Given the description of an element on the screen output the (x, y) to click on. 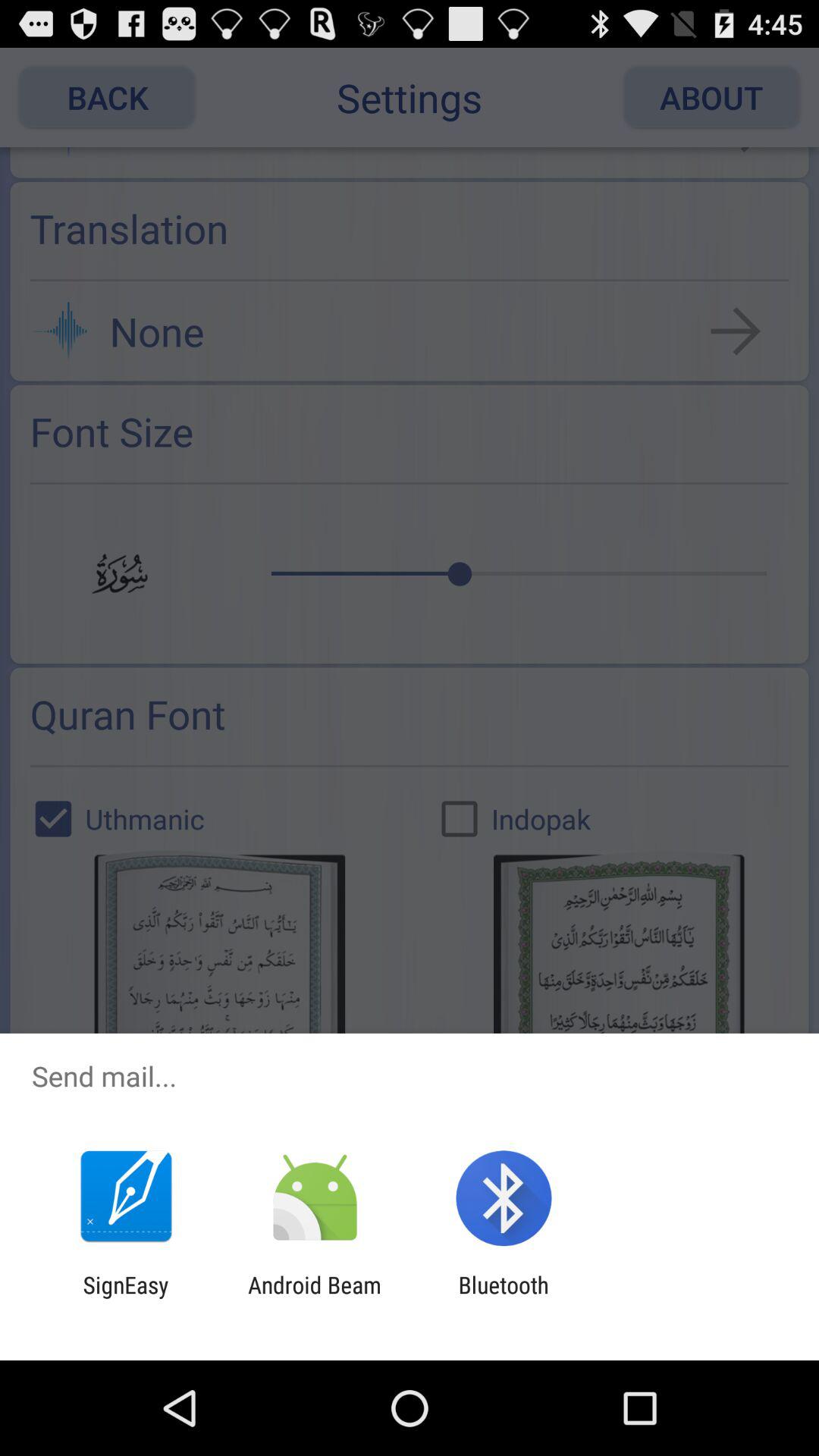
press icon next to the signeasy app (314, 1298)
